Given the description of an element on the screen output the (x, y) to click on. 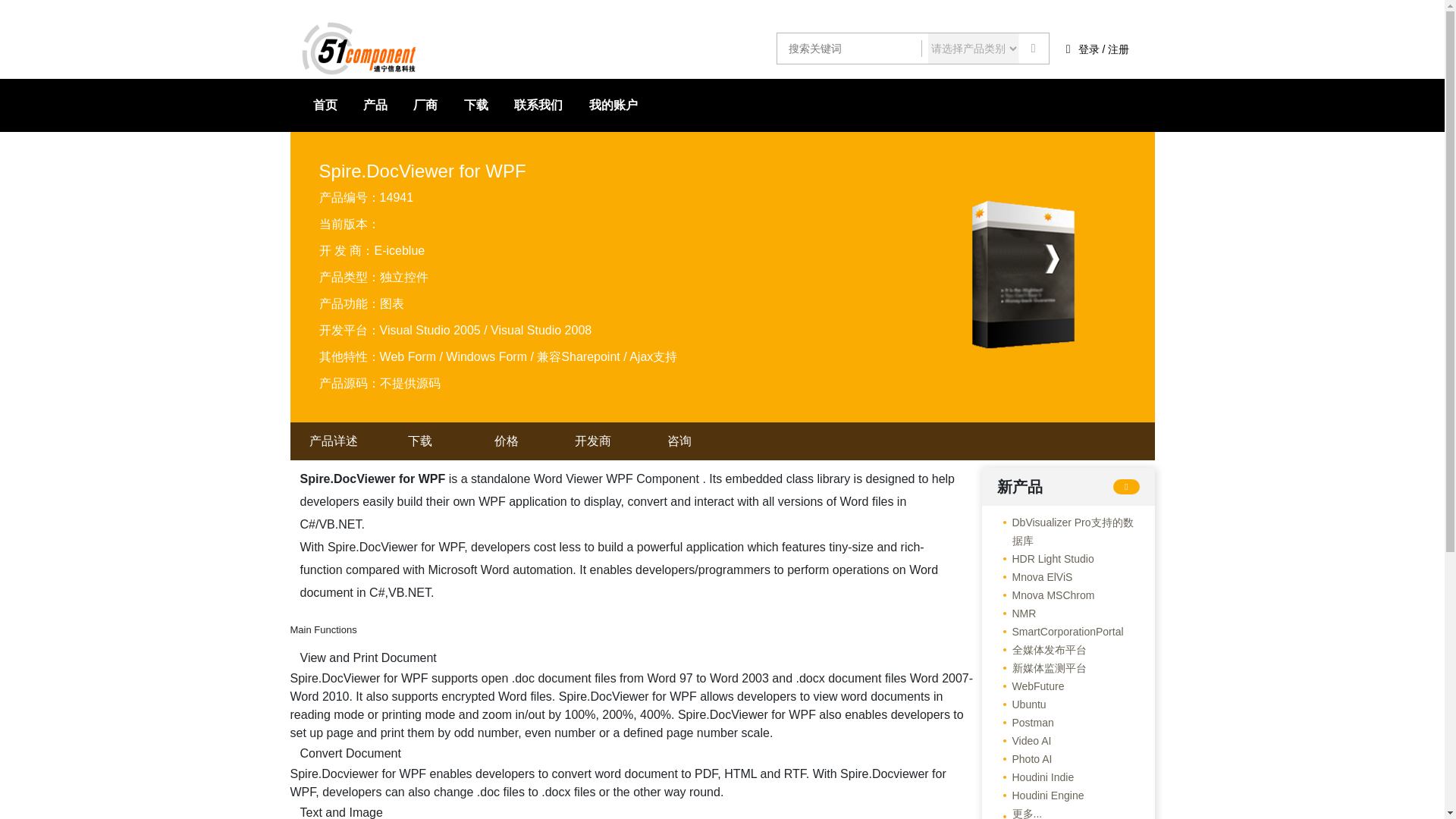
NMR (1015, 613)
Video AI (1023, 741)
E-iceblue (399, 250)
WebFuture (1029, 686)
Mnova ElViS (1033, 577)
Photo AI (1023, 759)
Houdini Indie (1034, 777)
Postman (1023, 722)
HDR Light Studio (1044, 558)
Houdini Engine (1039, 795)
